Given the description of an element on the screen output the (x, y) to click on. 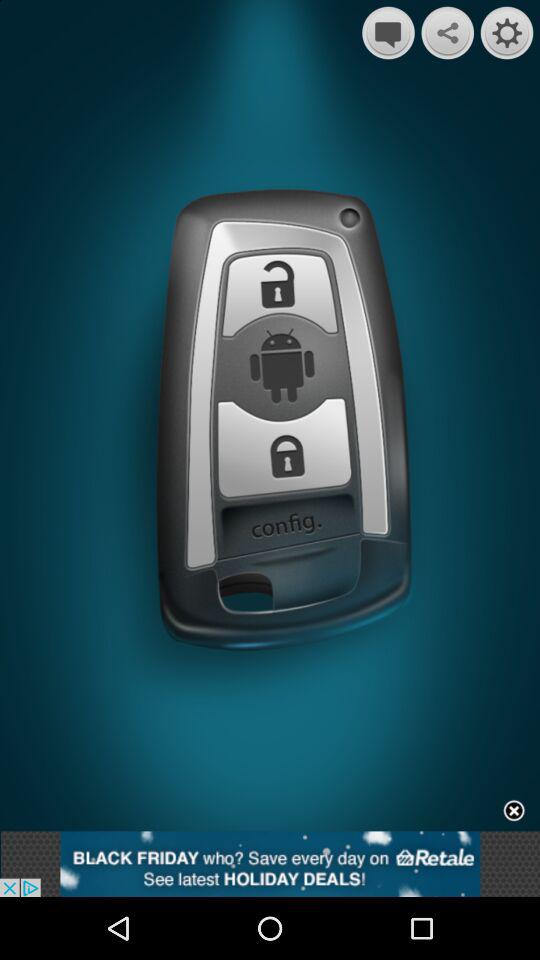
lock (285, 446)
